Given the description of an element on the screen output the (x, y) to click on. 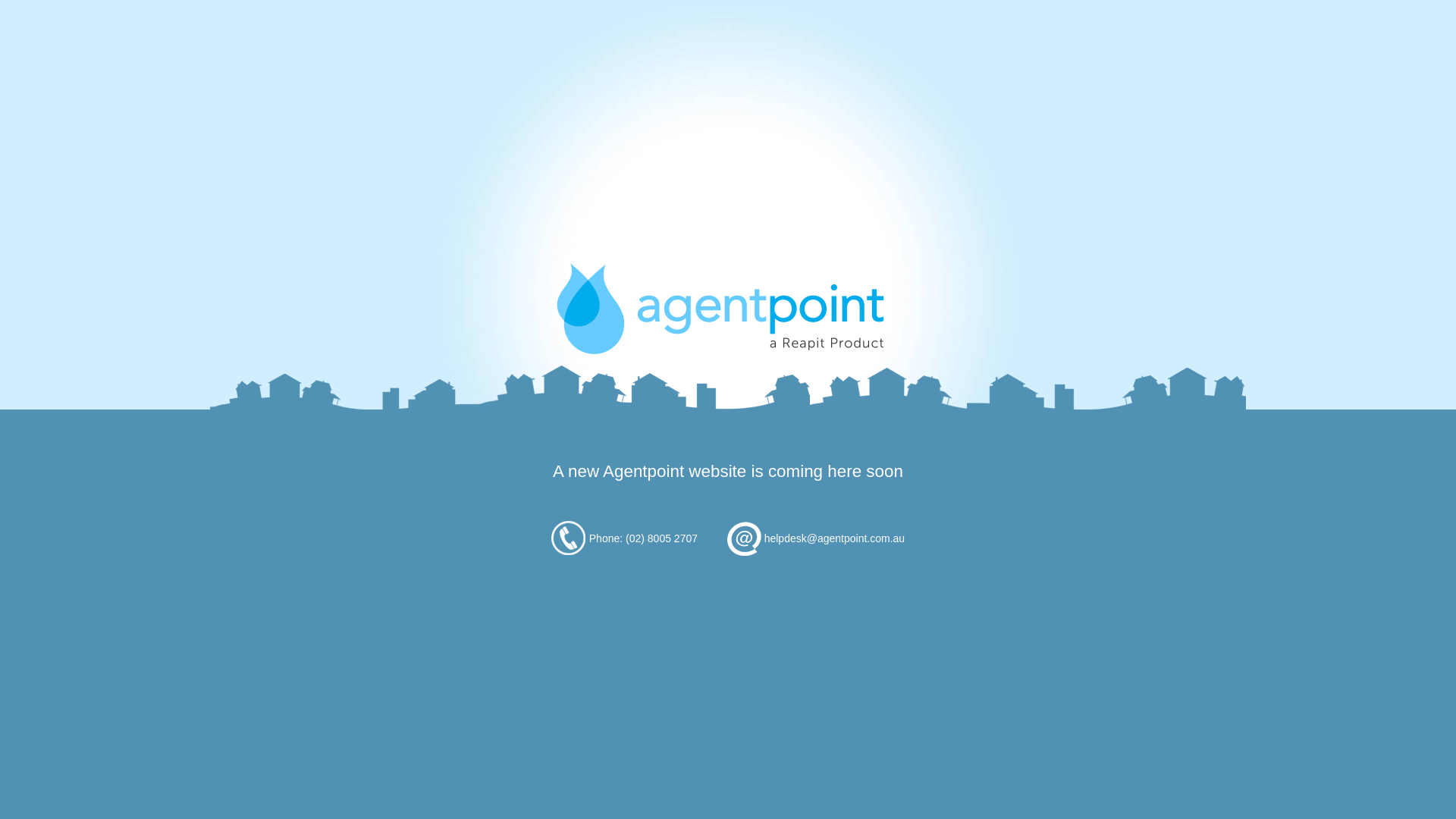
helpdesk@agentpoint.com.au Element type: text (834, 538)
